Given the description of an element on the screen output the (x, y) to click on. 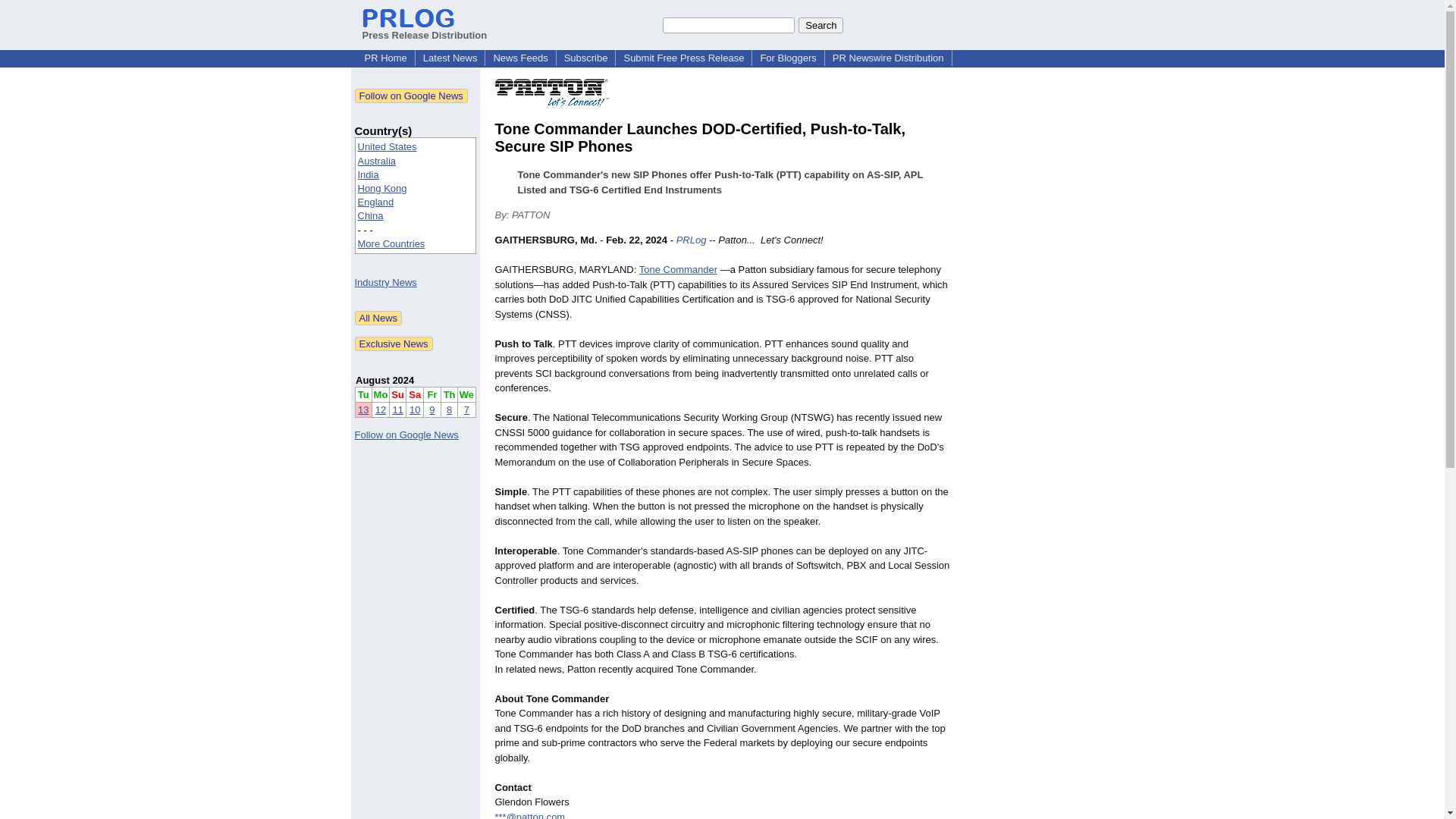
England (376, 202)
Search (820, 24)
Press Release Distribution (424, 29)
12 (380, 409)
Tone Commander (678, 269)
More Countries (391, 243)
Search (820, 24)
Australia (377, 161)
China (371, 215)
Industry News (385, 282)
